Given the description of an element on the screen output the (x, y) to click on. 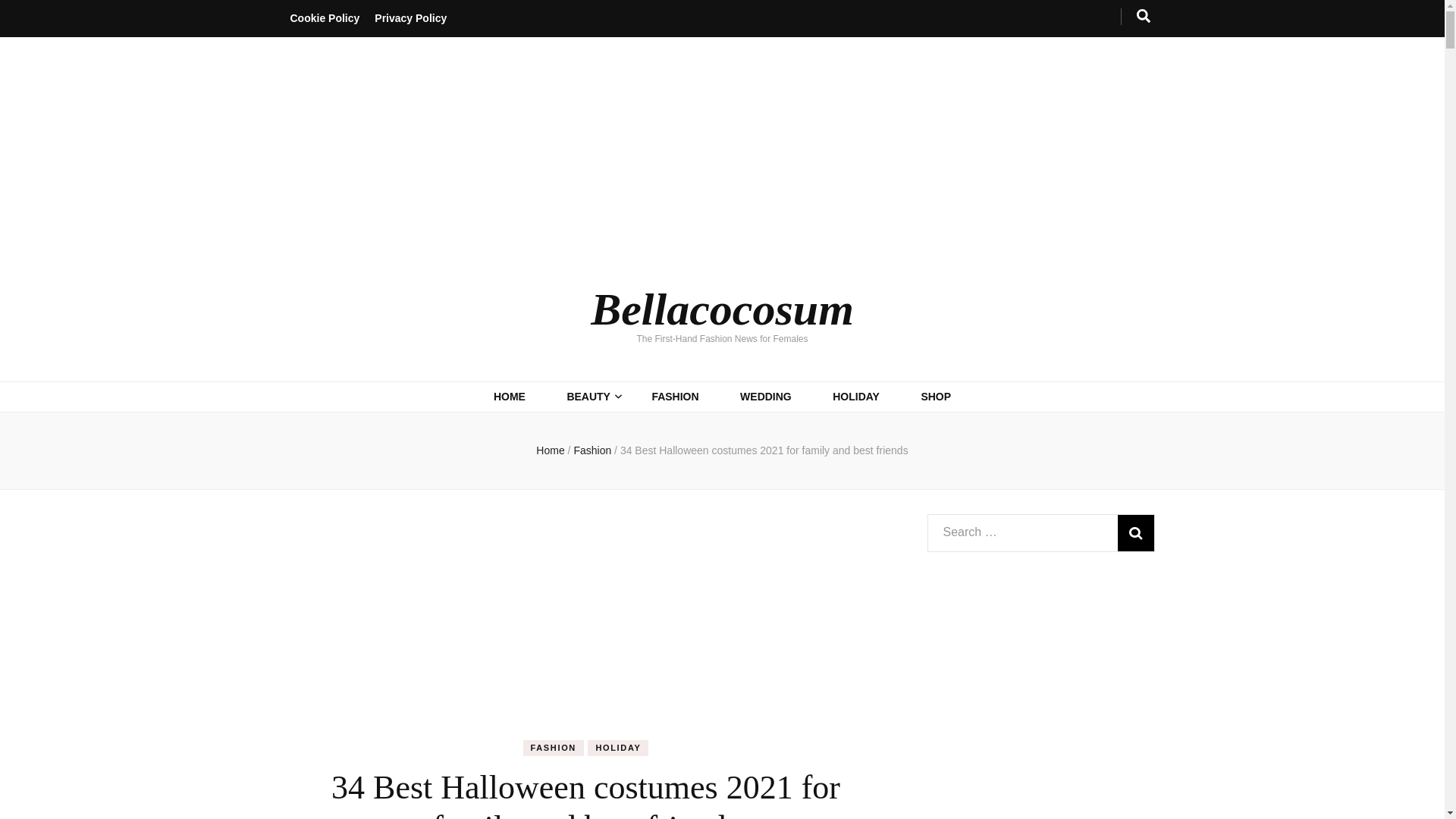
HOME (509, 396)
FASHION (552, 747)
Cookie Policy (324, 18)
HOLIDAY (617, 747)
Bellacocosum (722, 309)
HOLIDAY (855, 396)
Search (1136, 533)
Advertisement (584, 626)
BEAUTY (588, 396)
WEDDING (765, 396)
SHOP (935, 396)
34 Best Halloween costumes 2021 for family and best friends (764, 450)
FASHION (674, 396)
Fashion (593, 450)
